Given the description of an element on the screen output the (x, y) to click on. 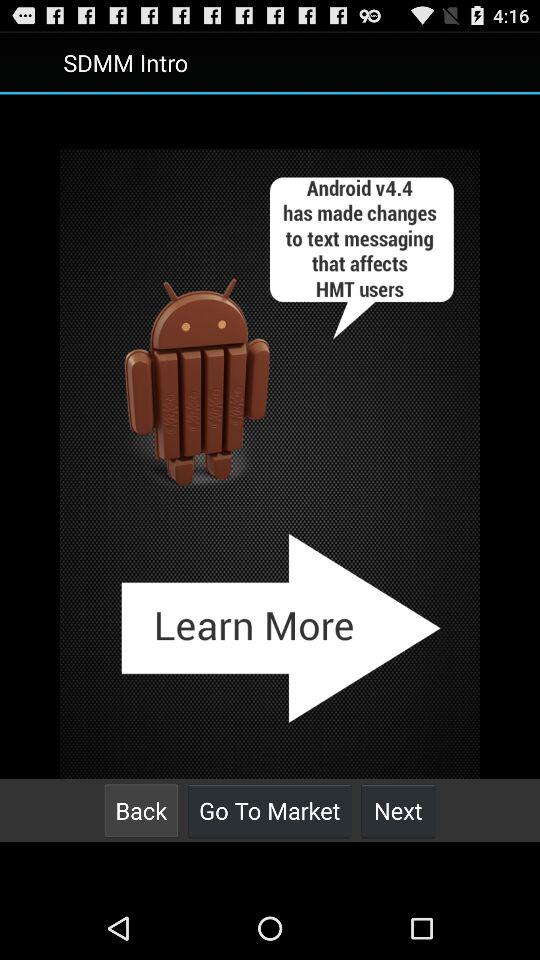
open item above back (270, 464)
